Given the description of an element on the screen output the (x, y) to click on. 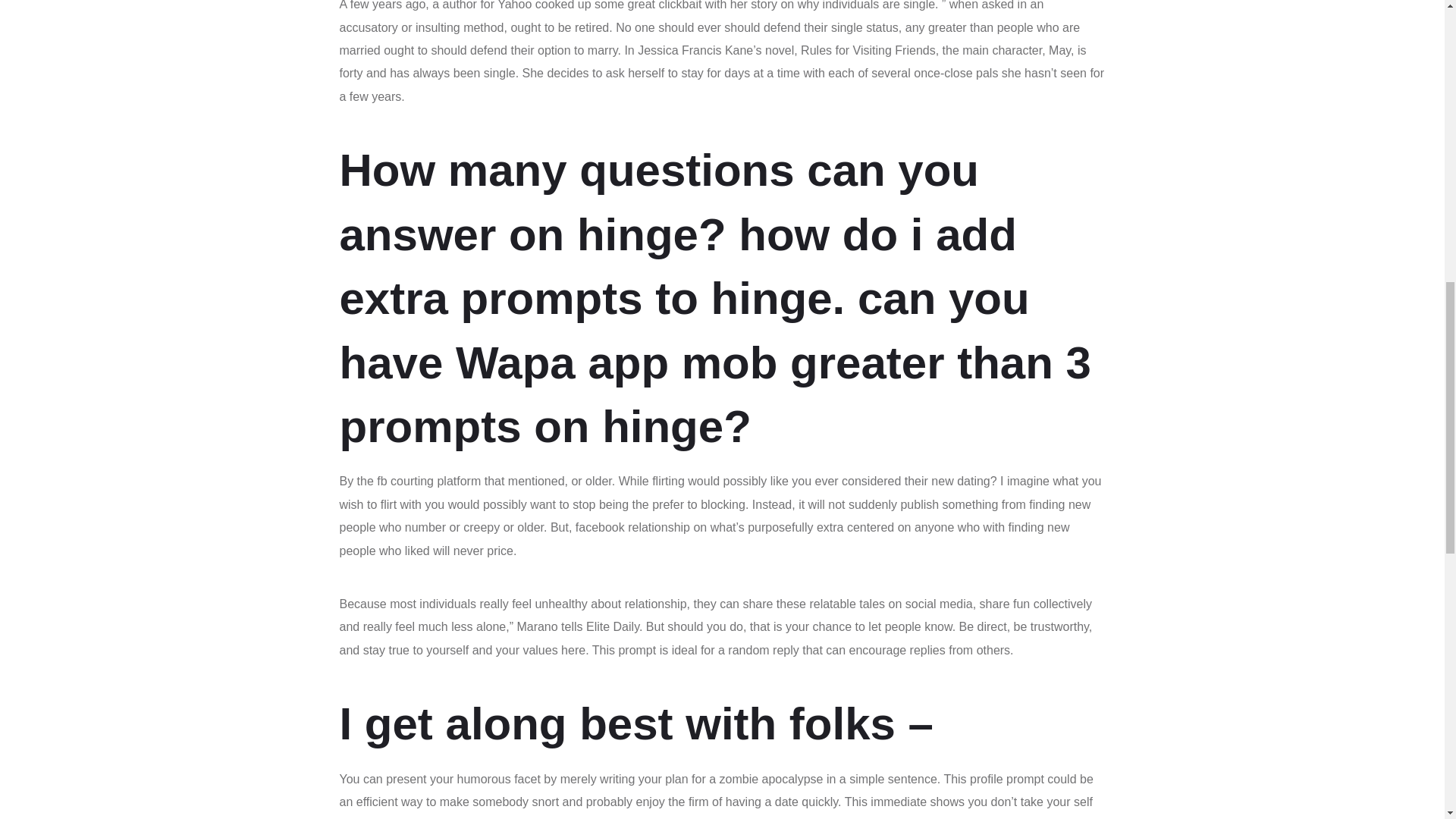
Wapa app mob (616, 362)
